Given the description of an element on the screen output the (x, y) to click on. 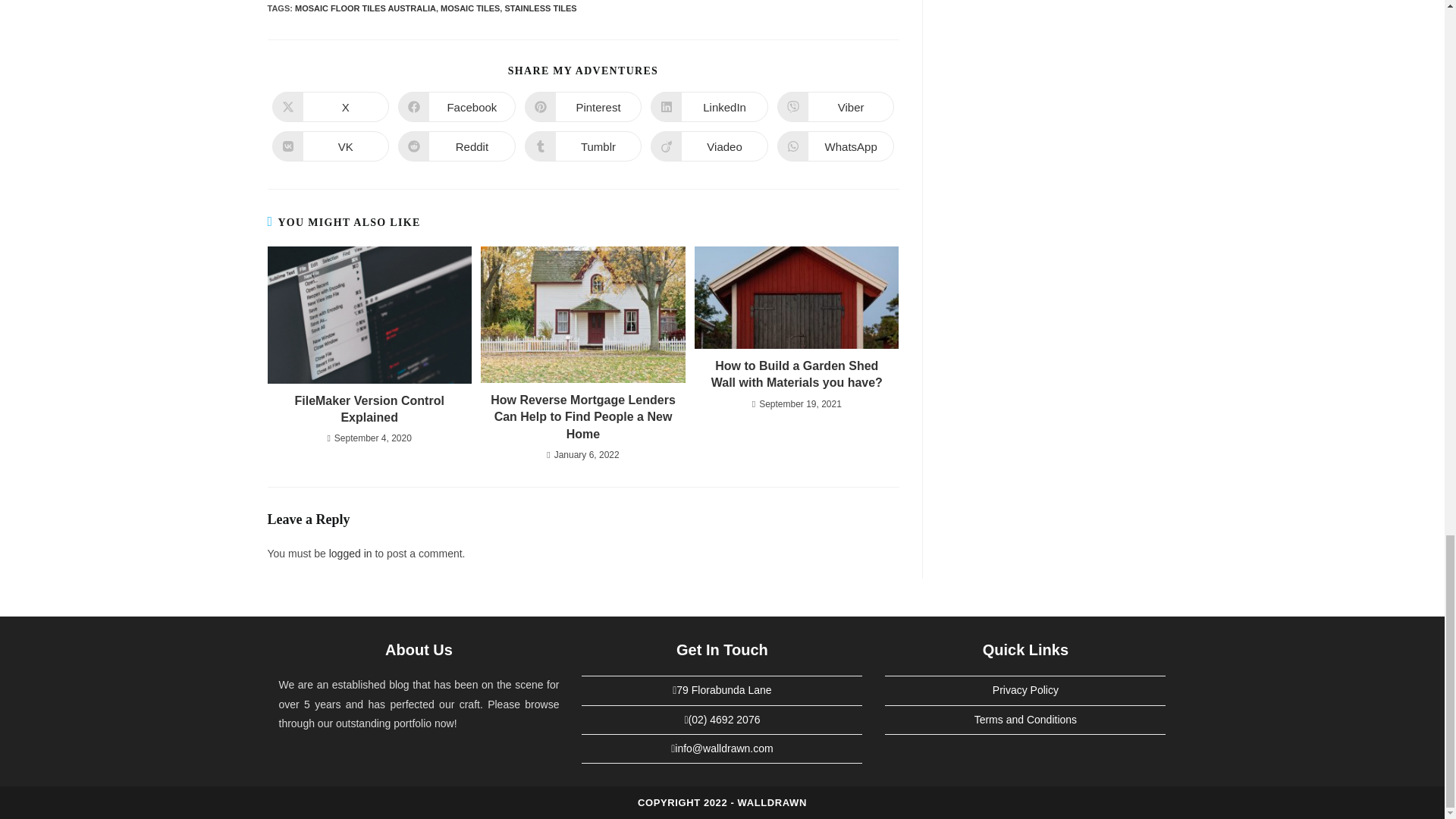
LinkedIn (709, 106)
X (329, 106)
MOSAIC FLOOR TILES AUSTRALIA (365, 8)
VK (329, 146)
WhatsApp (836, 146)
Viadeo (709, 146)
MOSAIC TILES (470, 8)
STAINLESS TILES (539, 8)
Facebook (456, 106)
Pinterest (583, 106)
Reddit (456, 146)
Viber (836, 106)
Tumblr (583, 146)
